Given the description of an element on the screen output the (x, y) to click on. 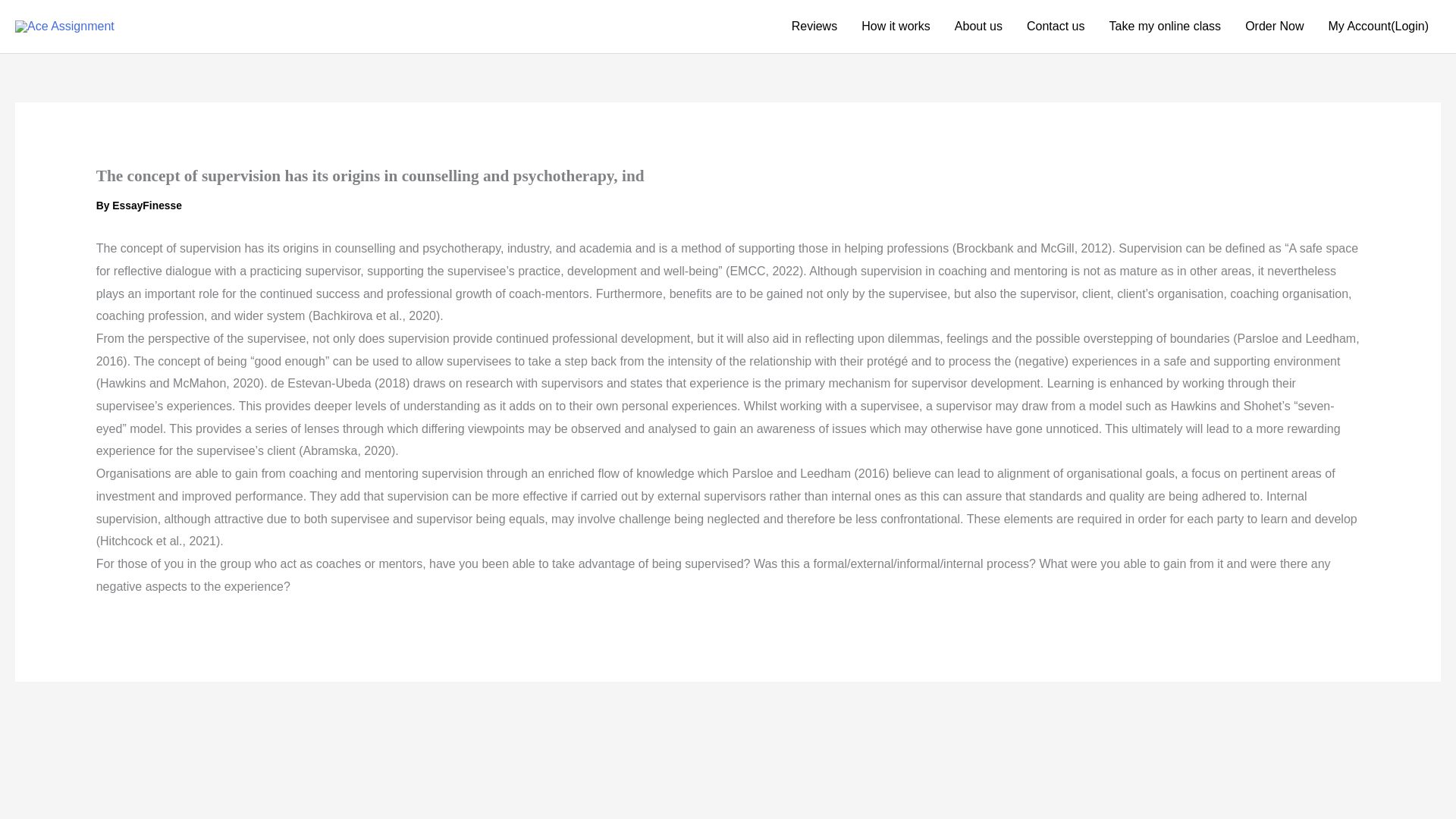
View all posts by EssayFinesse (147, 205)
Take my online class (1164, 26)
How it works (895, 26)
Contact us (1055, 26)
Reviews (813, 26)
Order Now (1274, 26)
About us (978, 26)
